Given the description of an element on the screen output the (x, y) to click on. 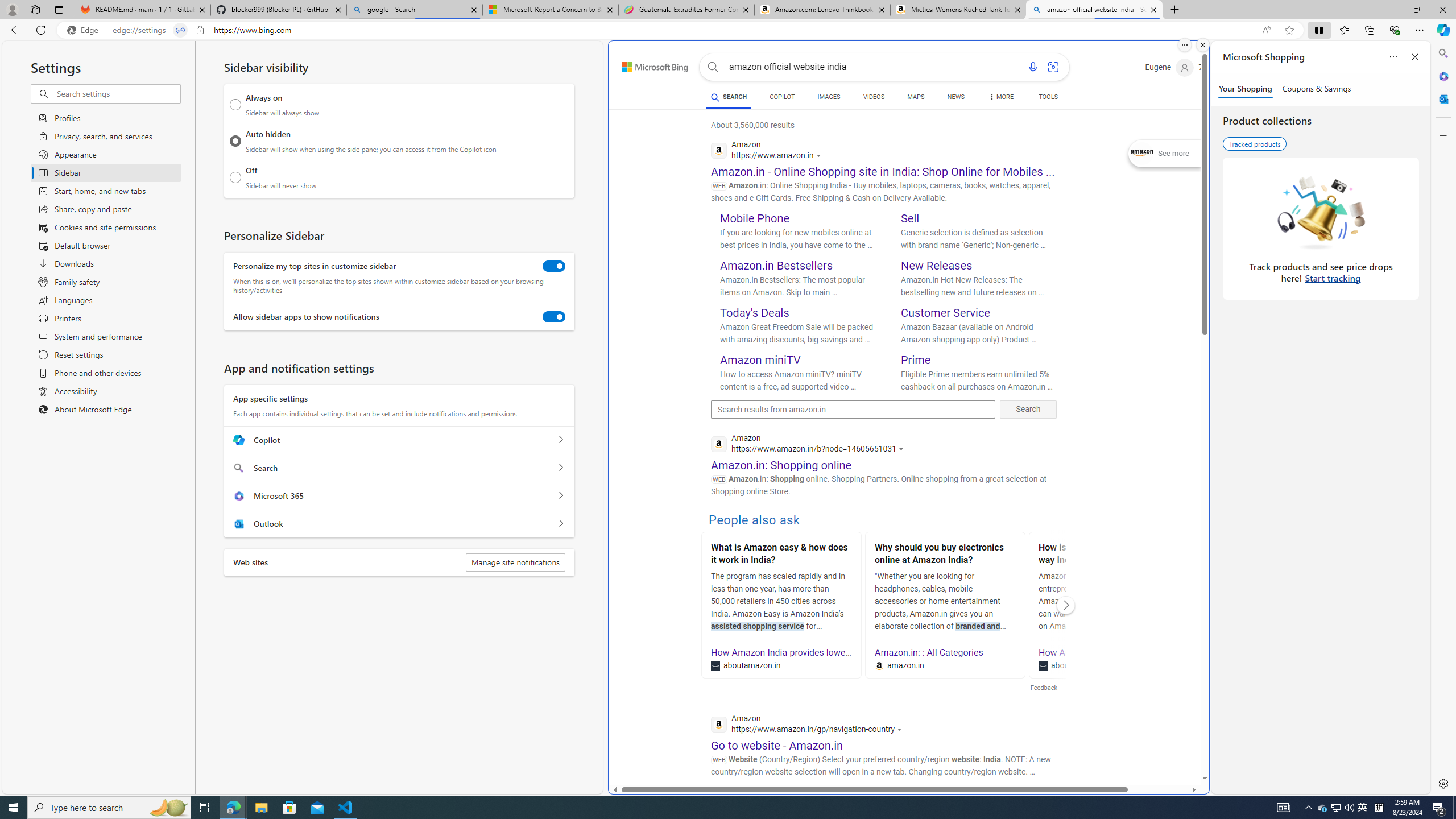
Always on Sidebar will always show (235, 104)
TOOLS (1048, 96)
NEWS (955, 98)
New Releases (936, 265)
Why should you buy electronics online at Amazon India? (945, 555)
Personalize my top sites in customize sidebar (553, 265)
